Given the description of an element on the screen output the (x, y) to click on. 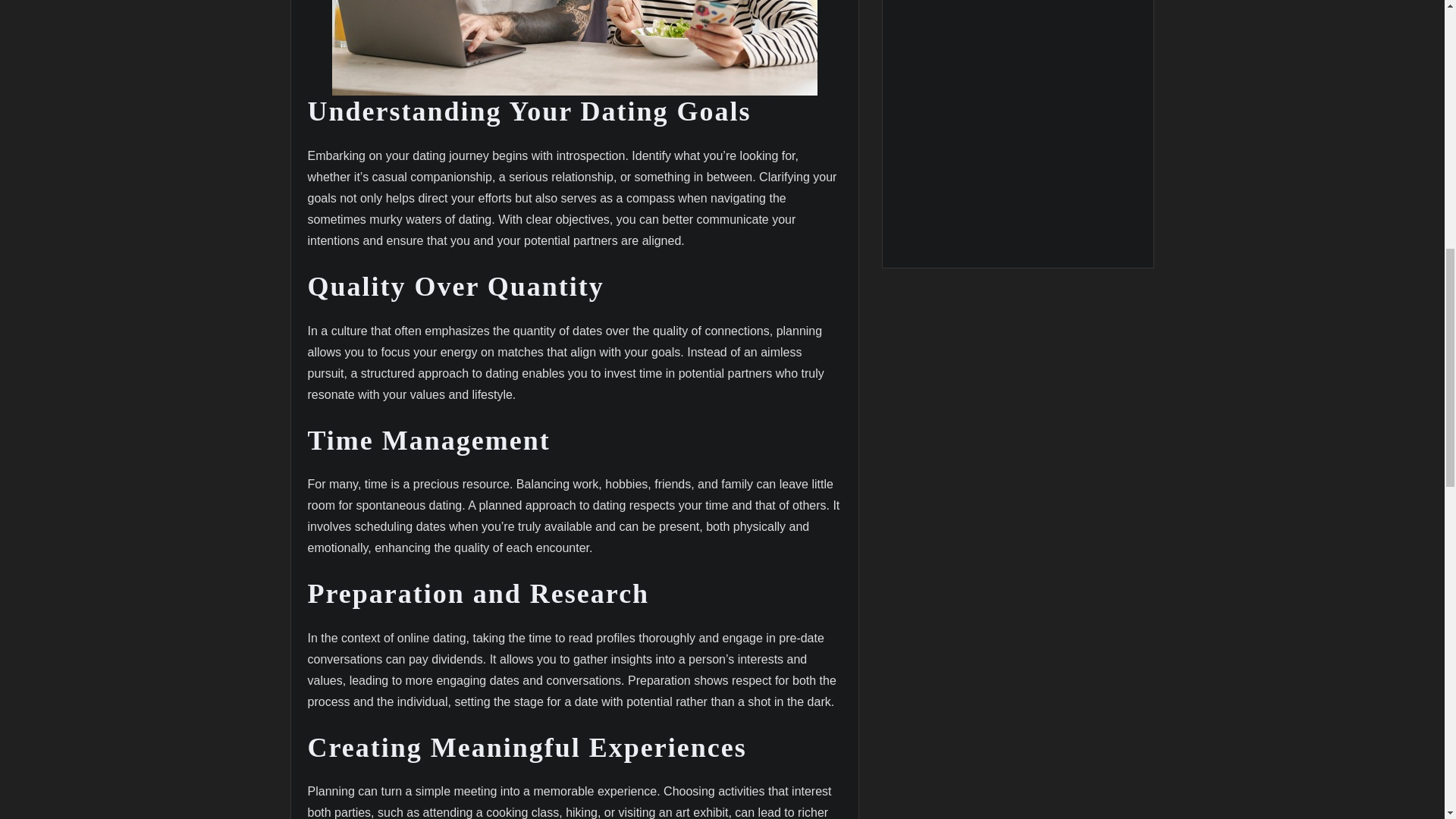
What is a Tantric Escort? (1018, 124)
